Given the description of an element on the screen output the (x, y) to click on. 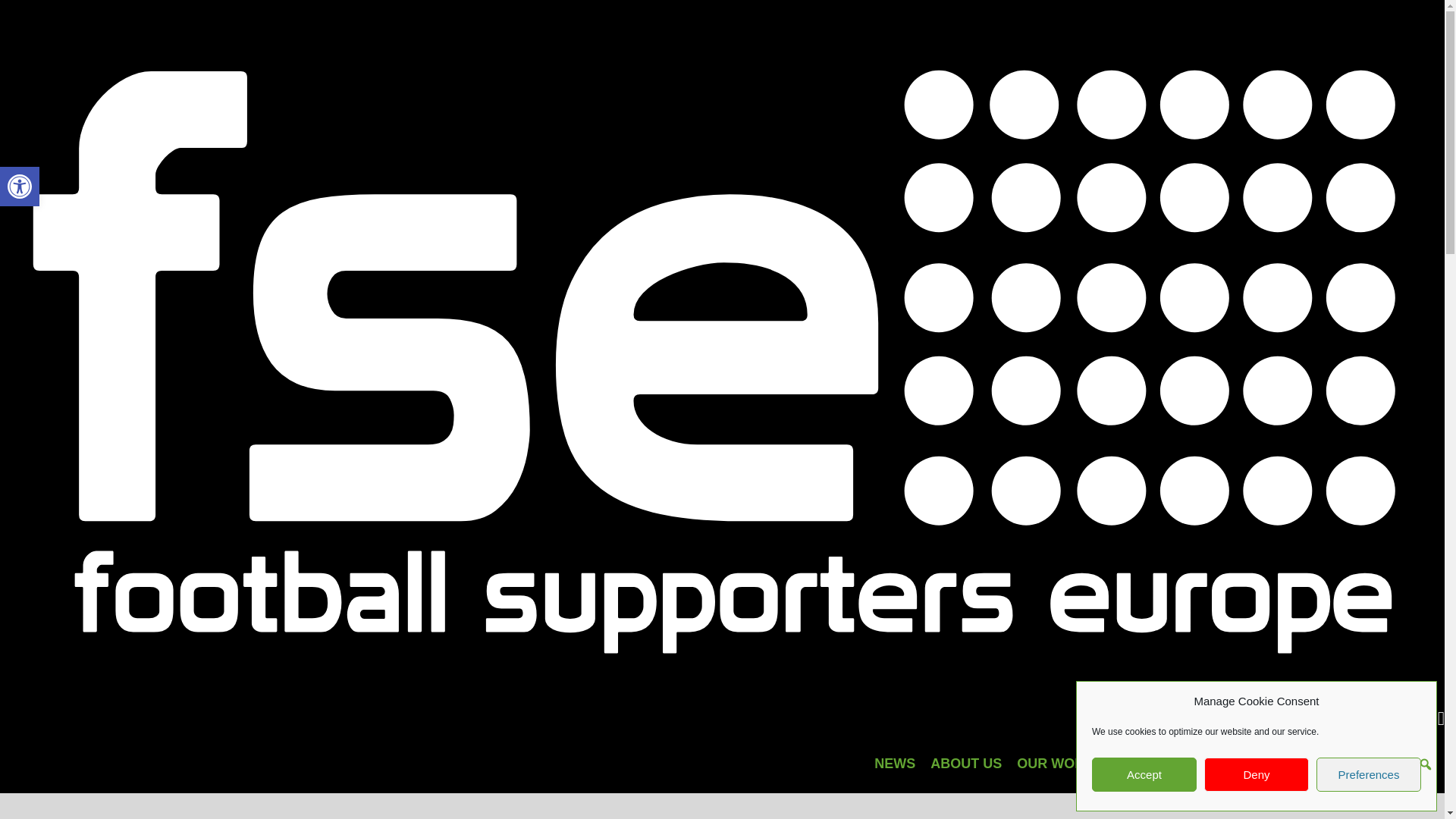
GRAYSCALE (19, 186)
NEGATIVE CONTRAST (1256, 774)
NEWS (1368, 774)
RESET (894, 762)
HIGH CONTRAST (19, 186)
